Given the description of an element on the screen output the (x, y) to click on. 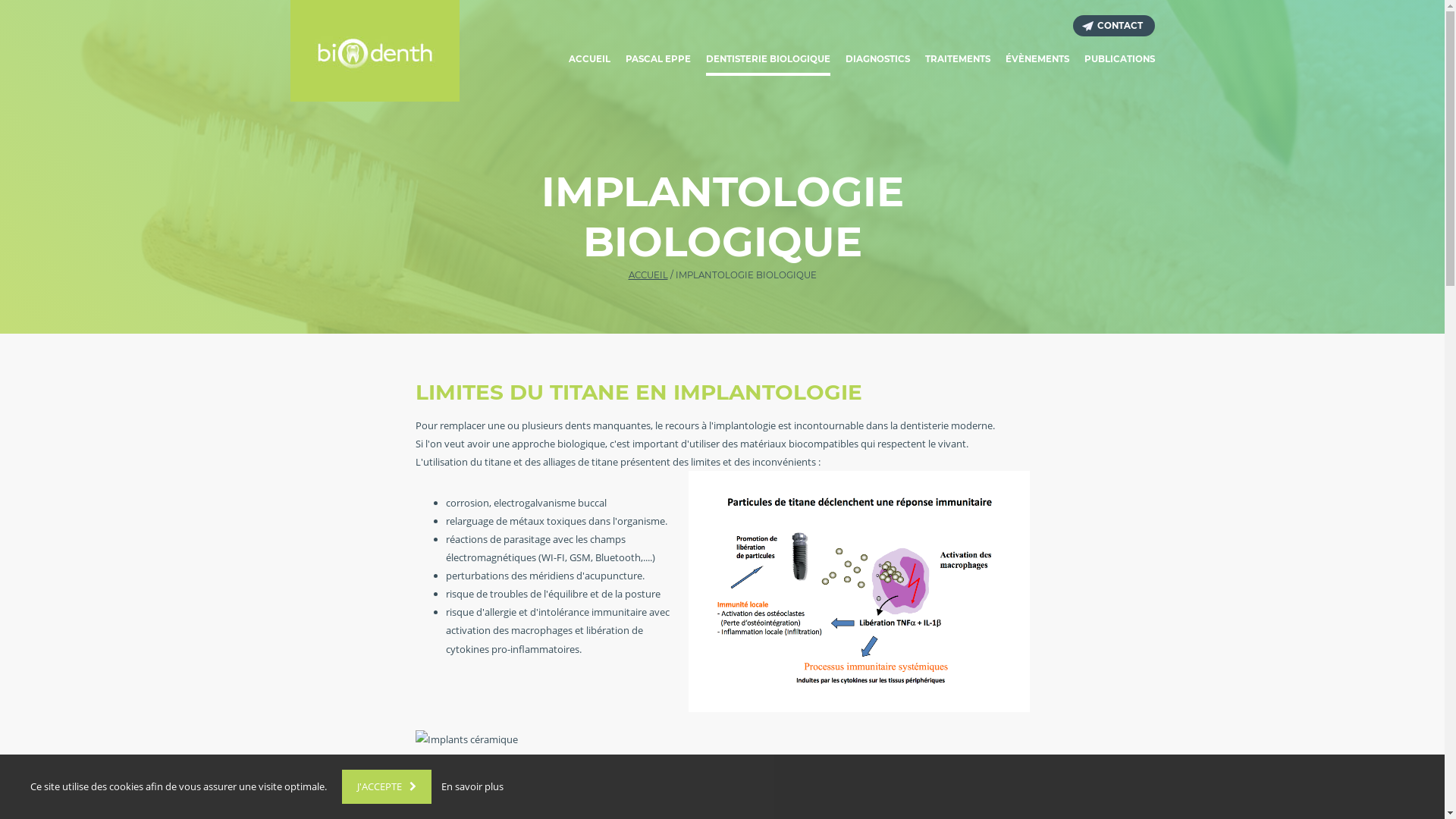
En savoir plus Element type: text (472, 786)
ACCUEIL Element type: text (589, 60)
PASCAL EPPE Element type: text (657, 60)
ACCUEIL Element type: text (647, 274)
PUBLICATIONS Element type: text (1119, 60)
DIAGNOSTICS Element type: text (876, 60)
CONTACT Element type: text (1113, 25)
Particules de titane Element type: hover (858, 591)
Aller au contenu principal Element type: text (0, 0)
TRAITEMENTS Element type: text (957, 60)
J'ACCEPTE Element type: text (386, 786)
DENTISTERIE BIOLOGIQUE Element type: text (767, 60)
Accueil Element type: hover (373, 50)
